Given the description of an element on the screen output the (x, y) to click on. 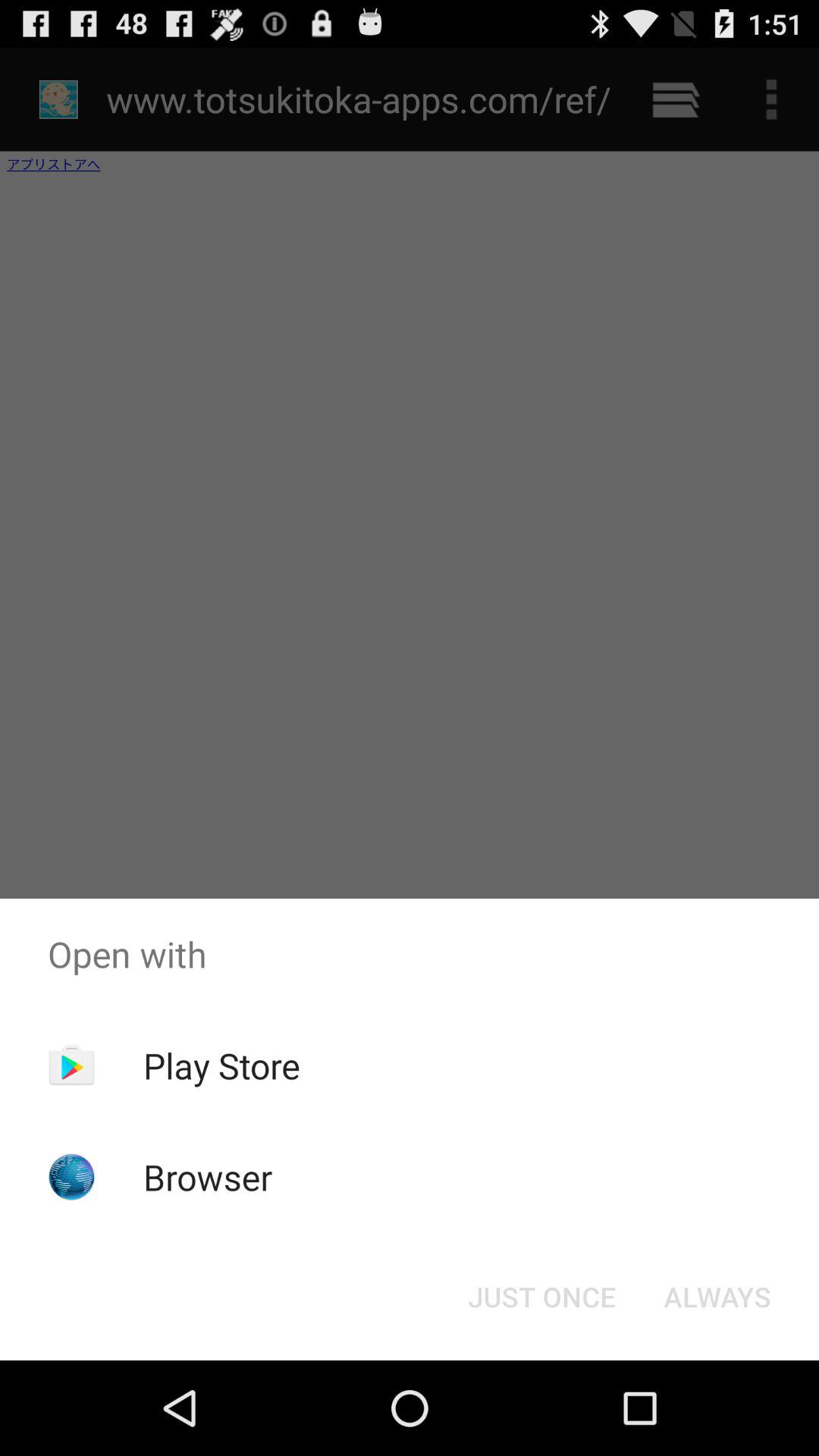
press the button next to always button (541, 1296)
